Given the description of an element on the screen output the (x, y) to click on. 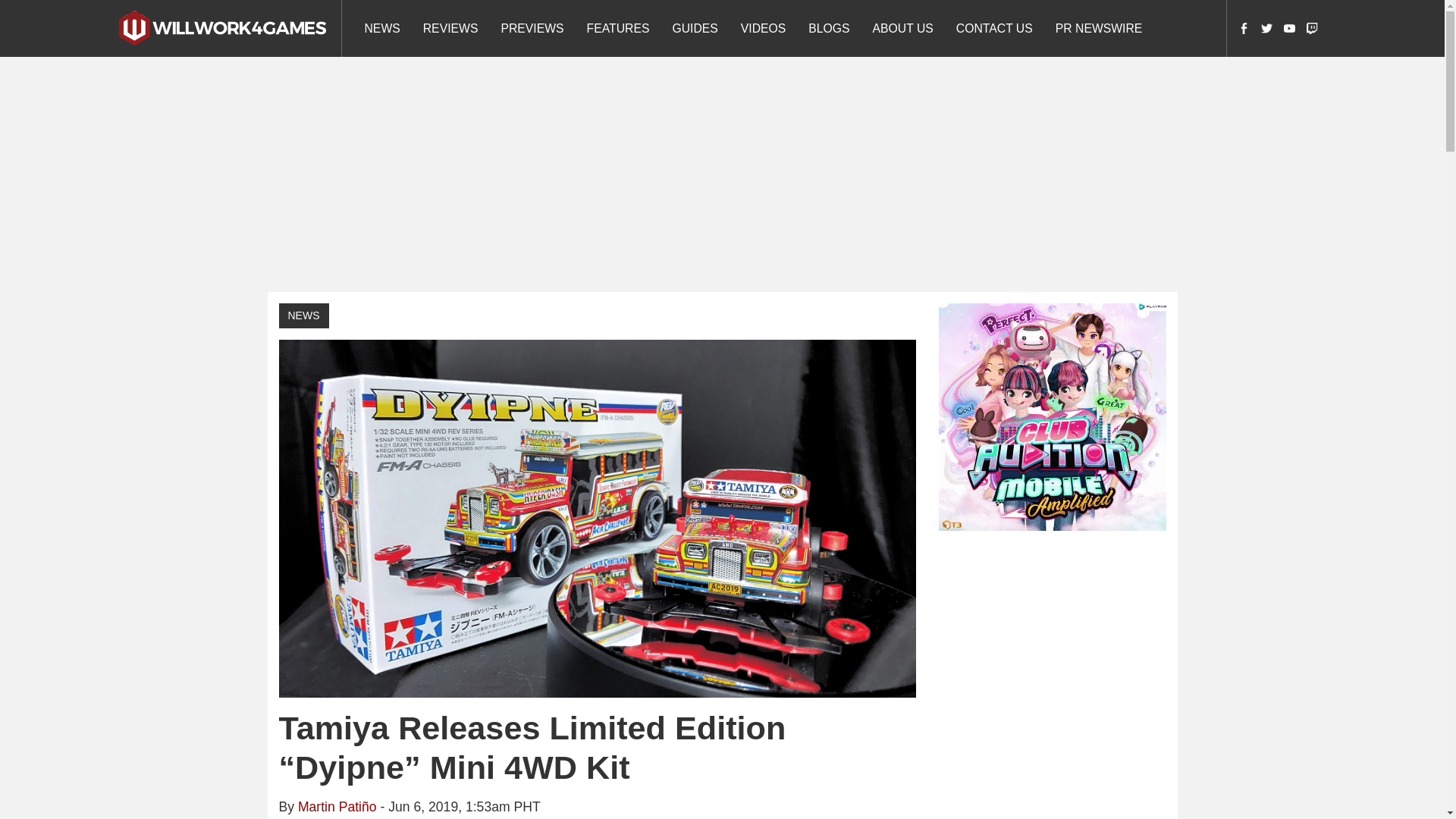
BLOGS (828, 28)
NEWS (304, 315)
REVIEWS (450, 28)
PREVIEWS (532, 28)
Club Audition Mobile Amplified (1052, 416)
ABOUT US (902, 28)
FEATURES (618, 28)
CONTACT US (993, 28)
GUIDES (695, 28)
NEWS (382, 28)
PR NEWSWIRE (1098, 28)
VIDEOS (763, 28)
